Given the description of an element on the screen output the (x, y) to click on. 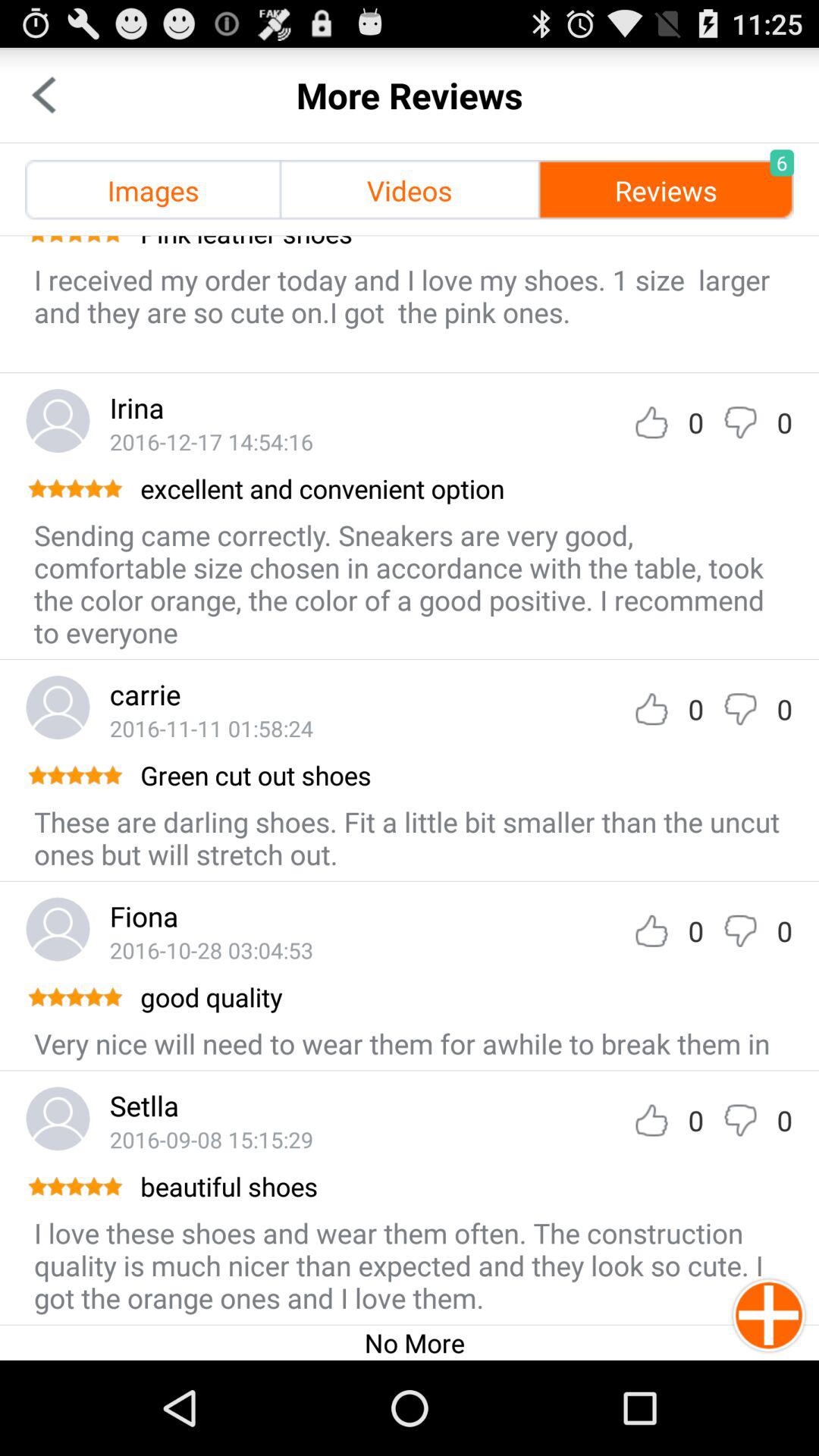
give this review a thumbs down (740, 709)
